Given the description of an element on the screen output the (x, y) to click on. 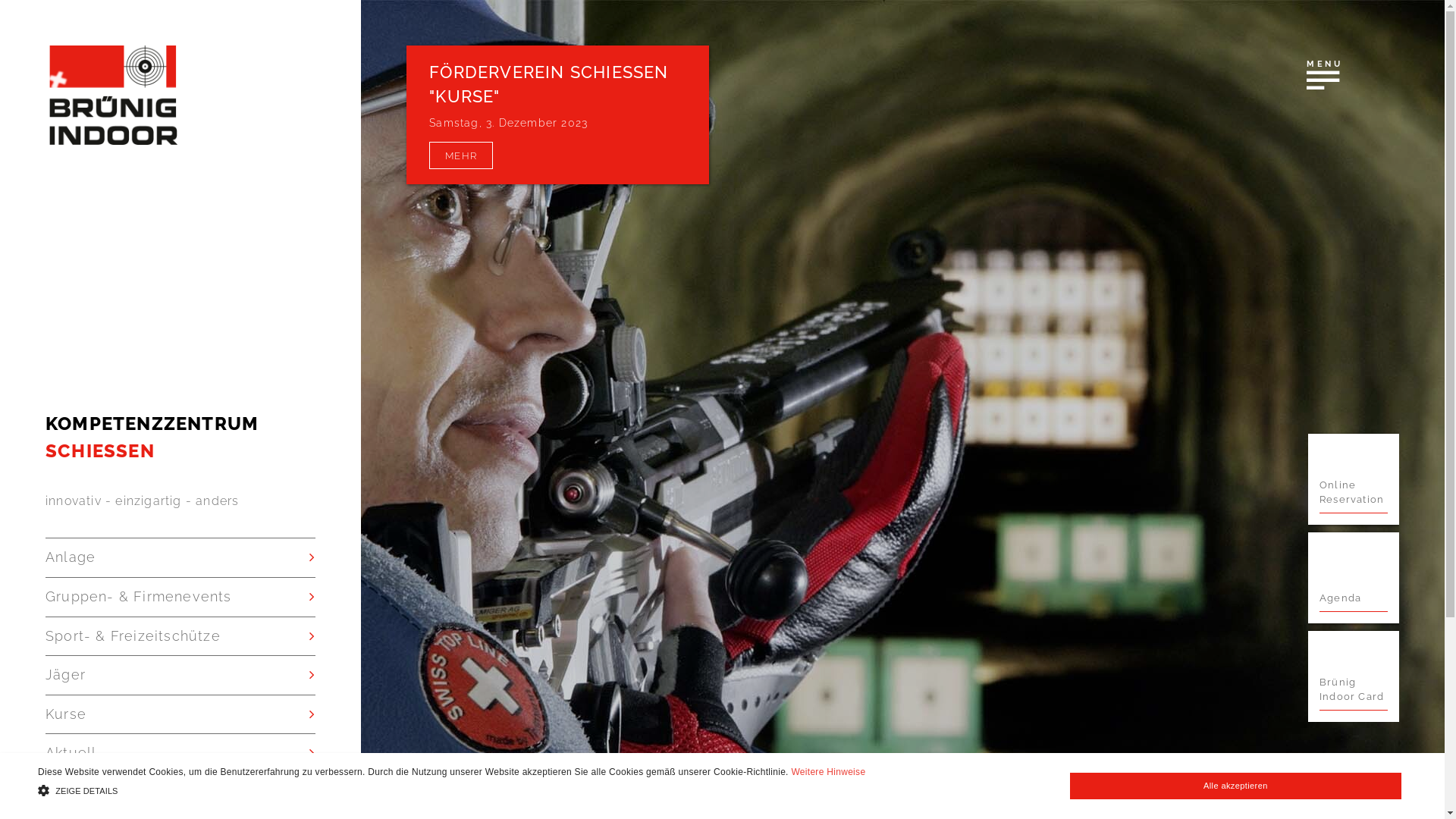
MEHR Element type: text (460, 155)
Weitere Hinweise Element type: text (827, 771)
Aktuell Element type: text (180, 753)
Anlage Element type: text (180, 557)
Kurse Element type: text (180, 714)
Gruppen- & Firmenevents Element type: text (180, 596)
